Given the description of an element on the screen output the (x, y) to click on. 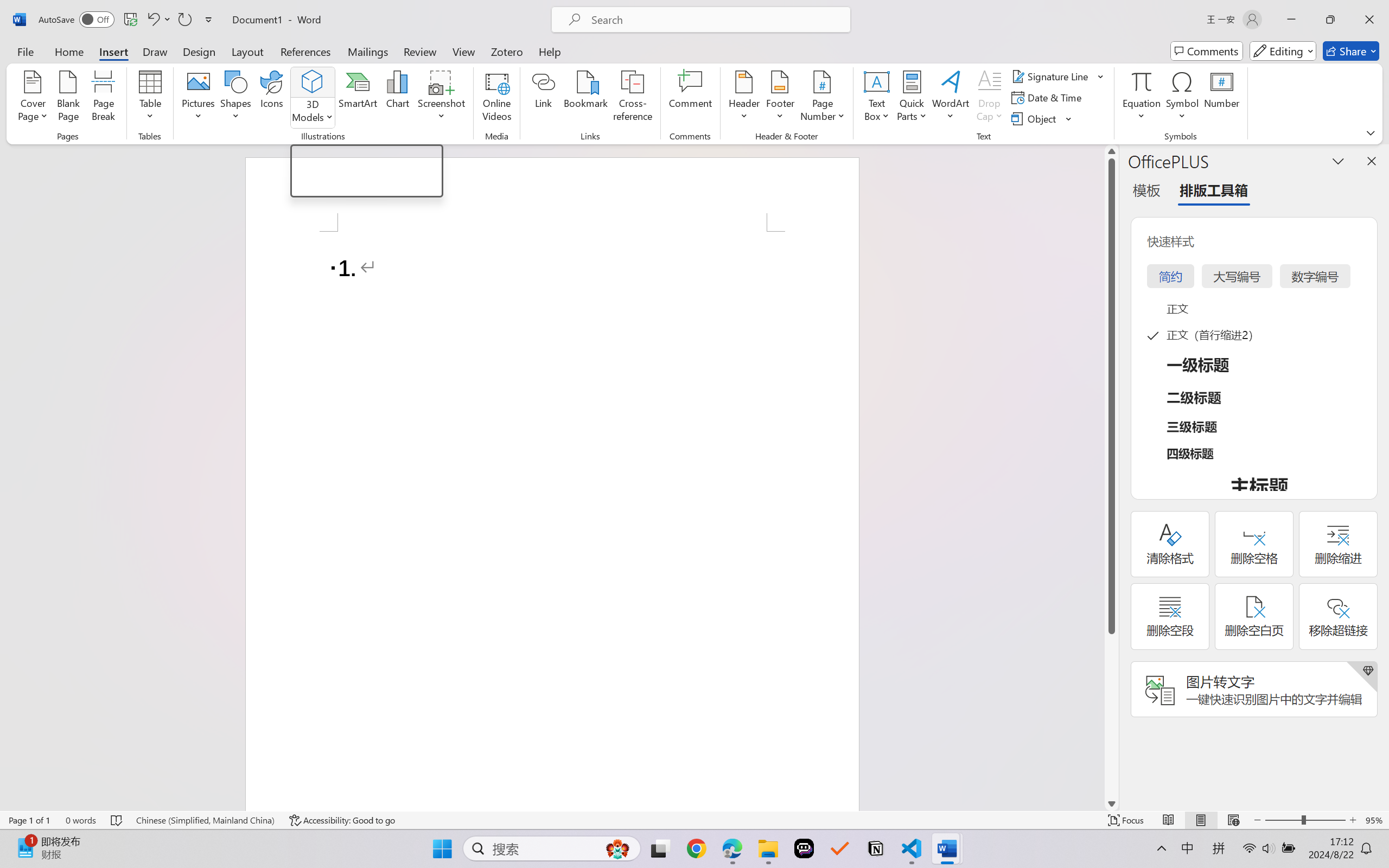
Text Box (876, 97)
Line down (1111, 803)
Cross-reference... (632, 97)
Bookmark... (585, 97)
Online Videos... (496, 97)
Drop Cap (989, 97)
